Given the description of an element on the screen output the (x, y) to click on. 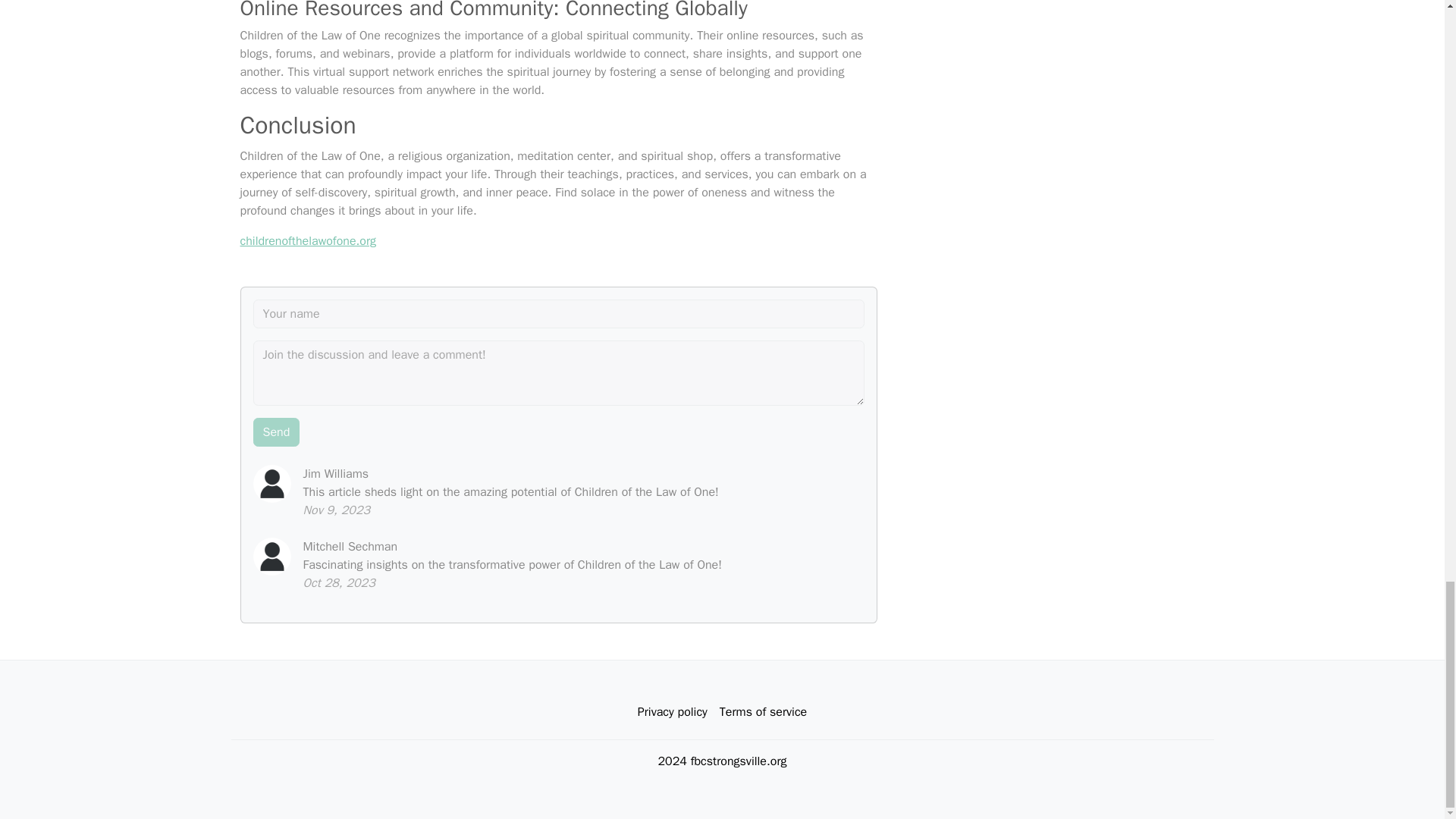
Terms of service (762, 711)
Send (276, 431)
childrenofthelawofone.org (307, 240)
Privacy policy (672, 711)
Send (276, 431)
